Given the description of an element on the screen output the (x, y) to click on. 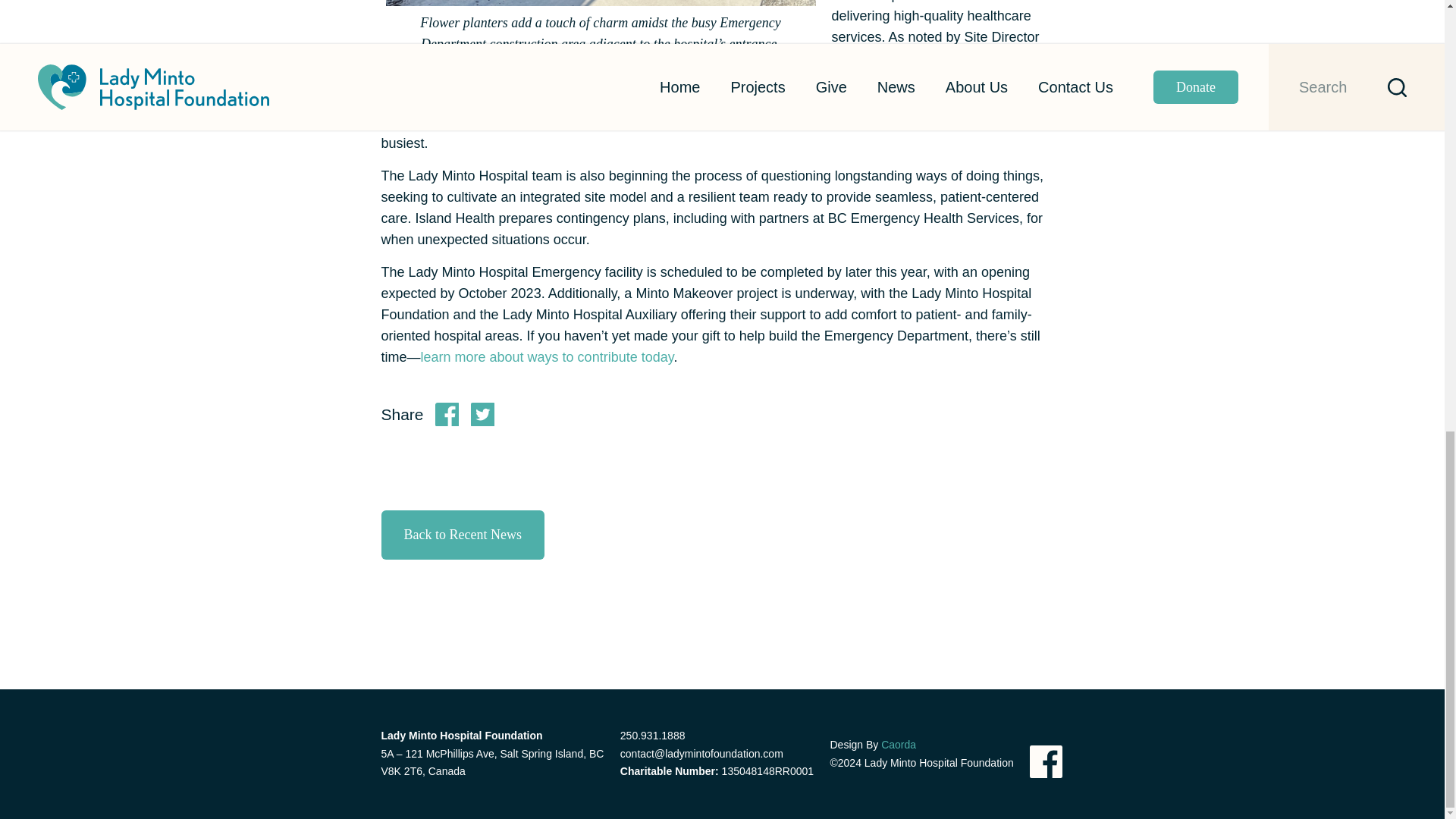
Facebook (1045, 761)
Caorda (897, 744)
learn more about ways to contribute today (547, 356)
Back to Recent News (461, 534)
